Given the description of an element on the screen output the (x, y) to click on. 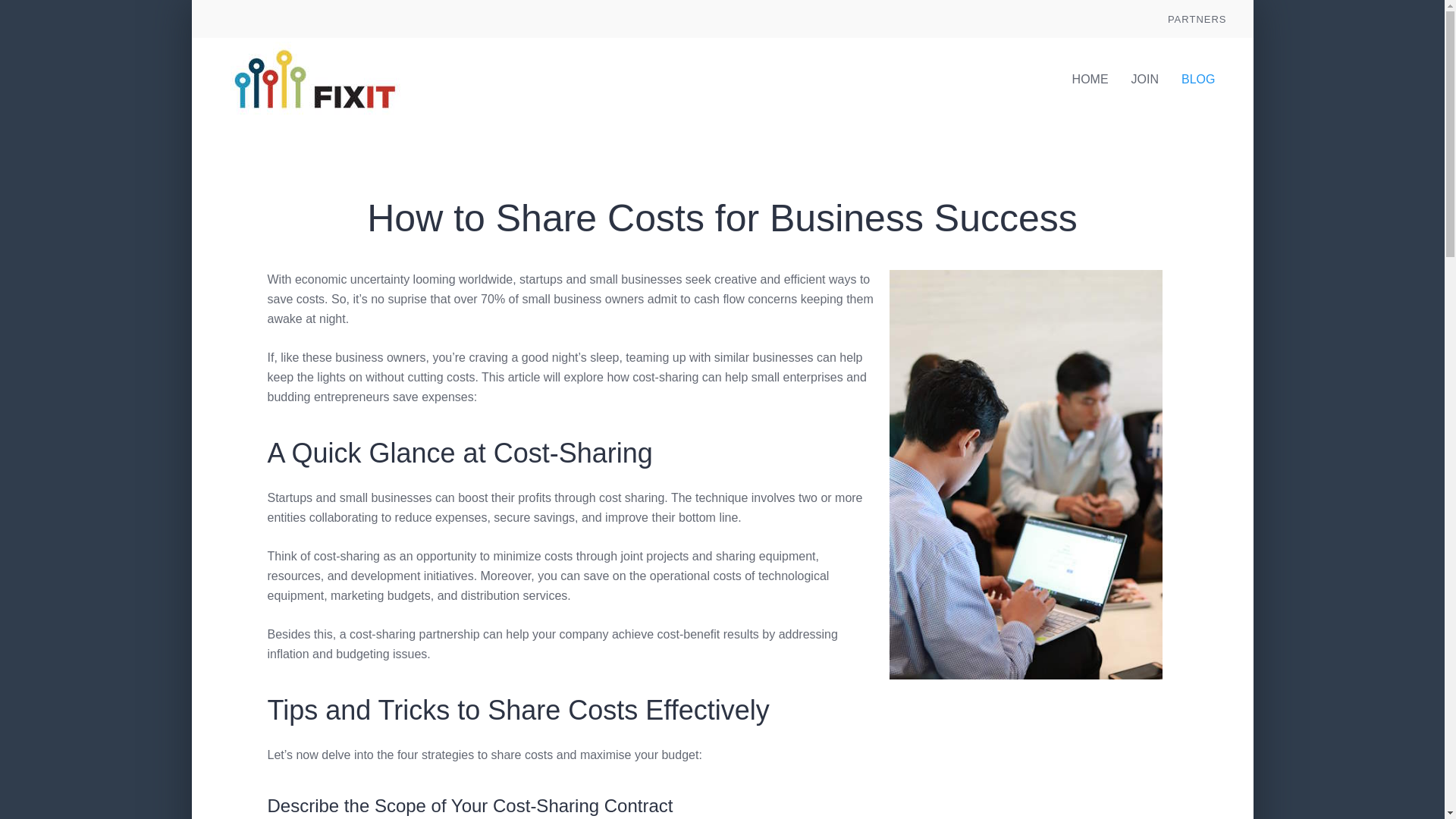
PARTNERS (1197, 18)
HOME (1090, 79)
BLOG (1197, 79)
JOIN (1144, 79)
